Given the description of an element on the screen output the (x, y) to click on. 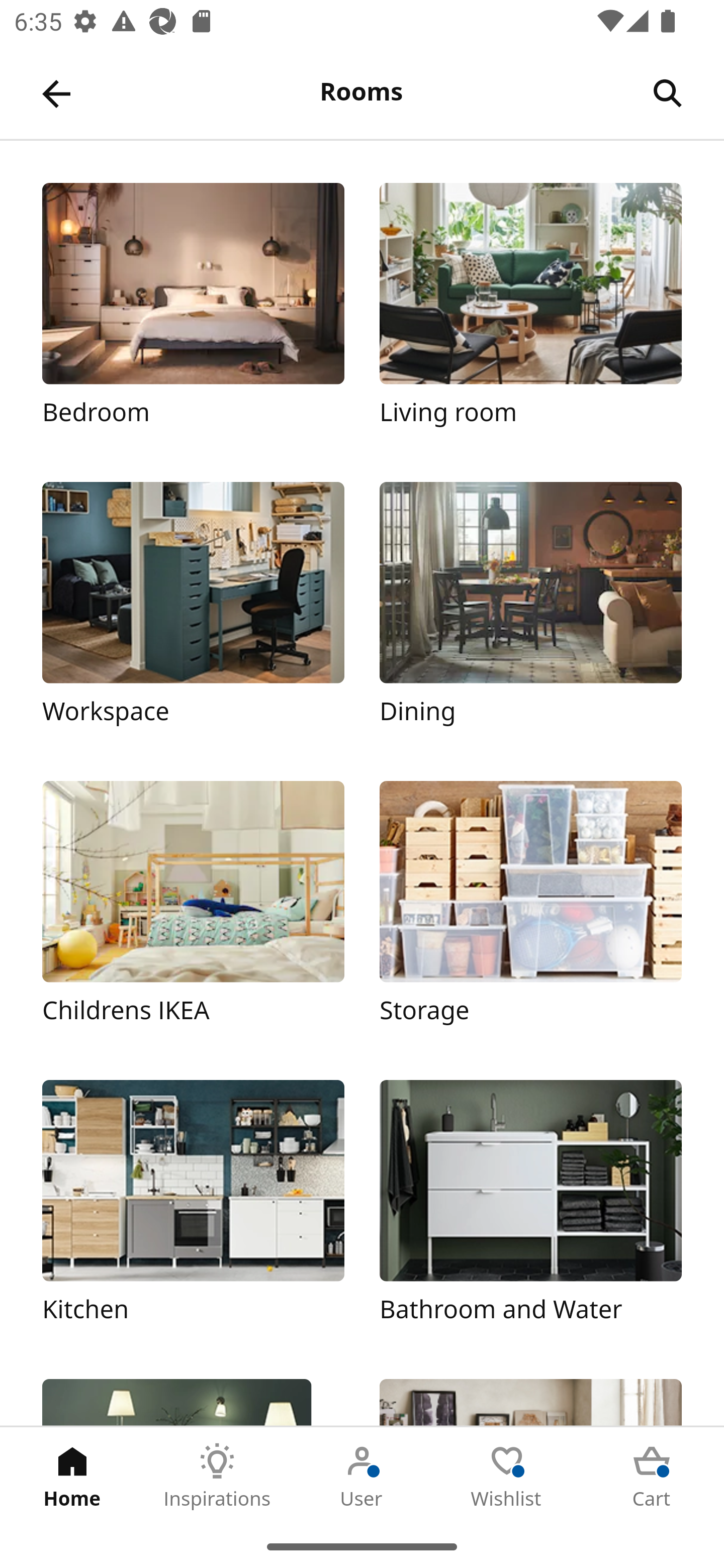
Bedroom (192, 314)
Living room (530, 314)
Workspace (192, 613)
Dining (530, 613)
Childrens IKEA (192, 912)
Storage (530, 912)
Kitchen (192, 1211)
Bathroom and Water (530, 1211)
Home
Tab 1 of 5 (72, 1476)
Inspirations
Tab 2 of 5 (216, 1476)
User
Tab 3 of 5 (361, 1476)
Wishlist
Tab 4 of 5 (506, 1476)
Cart
Tab 5 of 5 (651, 1476)
